Given the description of an element on the screen output the (x, y) to click on. 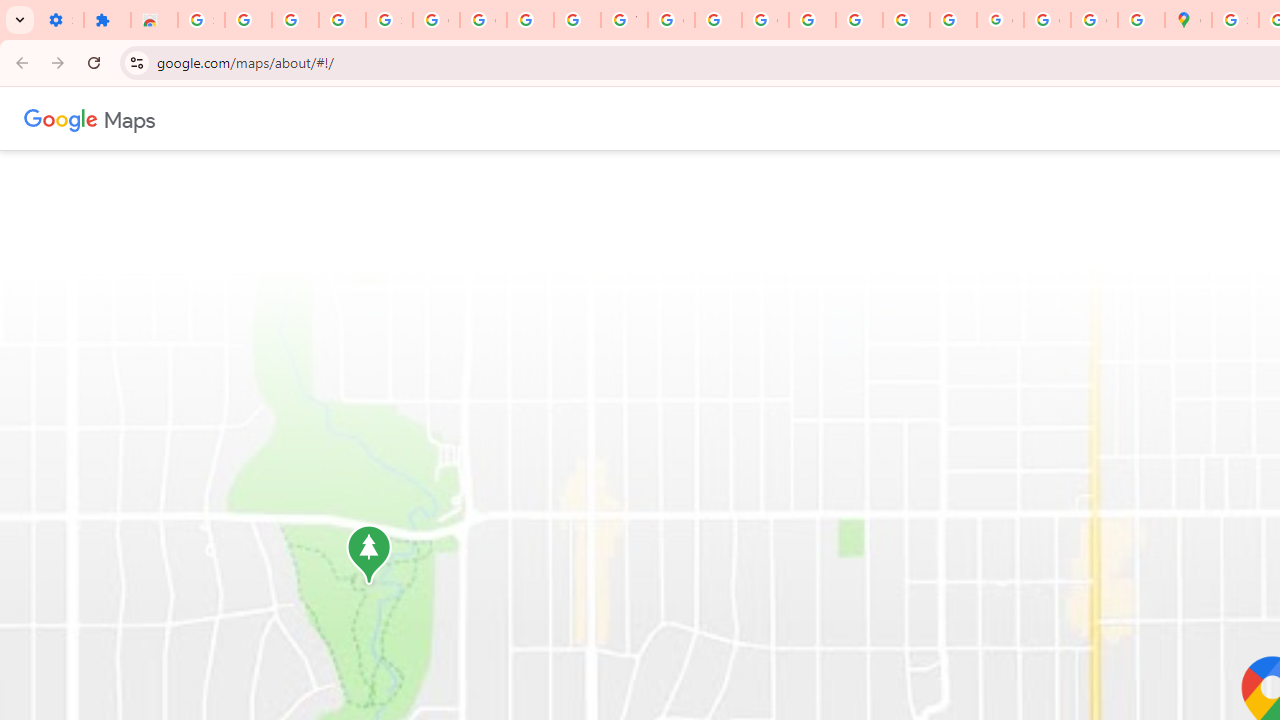
Google Account Help (436, 20)
